Given the description of an element on the screen output the (x, y) to click on. 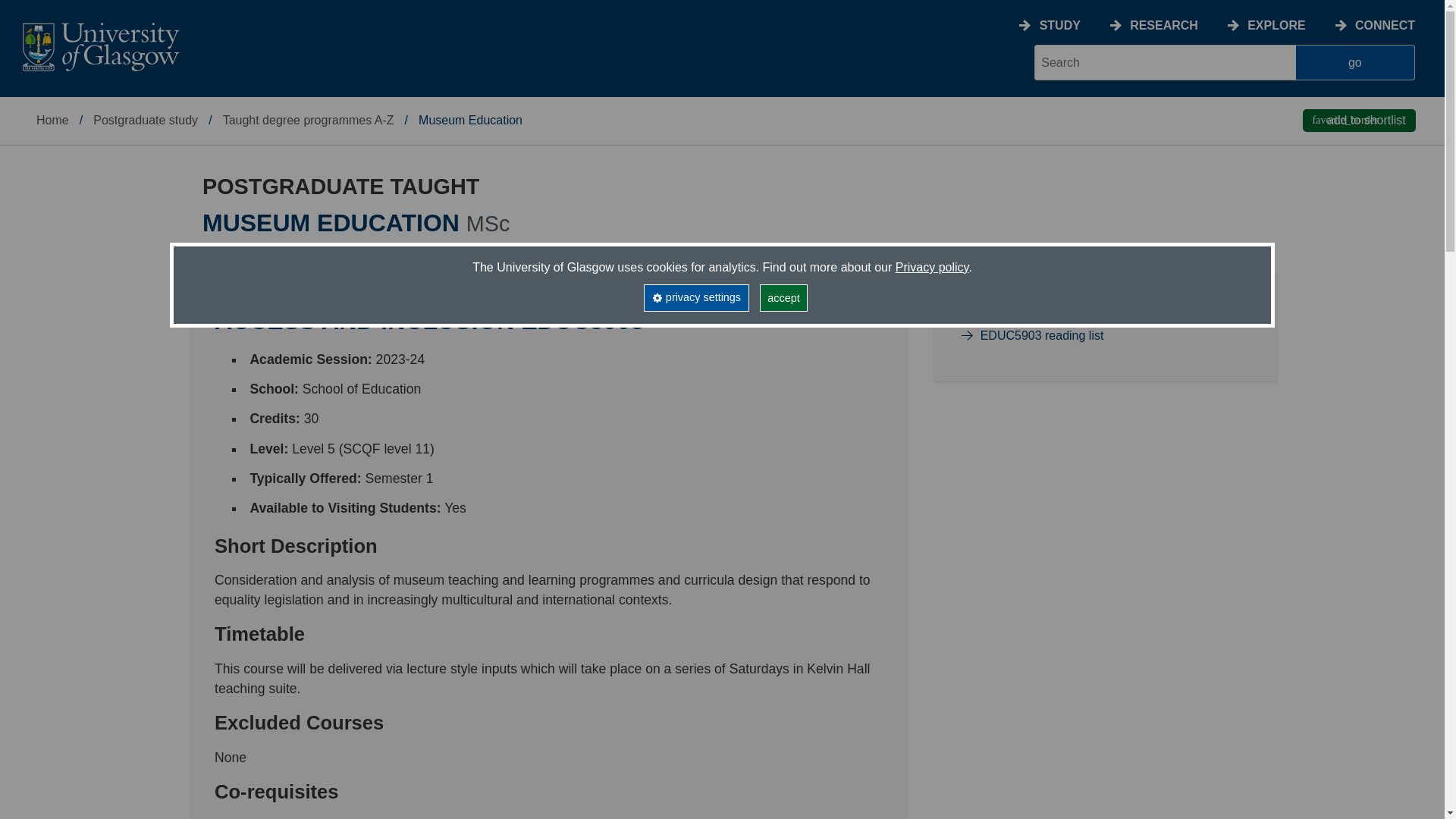
EDUC5903 reading list (1041, 335)
RESEARCH (1163, 24)
privacy settings (695, 298)
search (1164, 62)
accept (784, 298)
Home (52, 119)
submit (1355, 62)
Postgraduate study (145, 119)
CONNECT (1385, 24)
go (1355, 62)
POSTGRADUATE TAUGHT (343, 186)
EXPLORE (1275, 24)
STUDY (1059, 24)
go (1355, 62)
Privacy policy (932, 267)
